Given the description of an element on the screen output the (x, y) to click on. 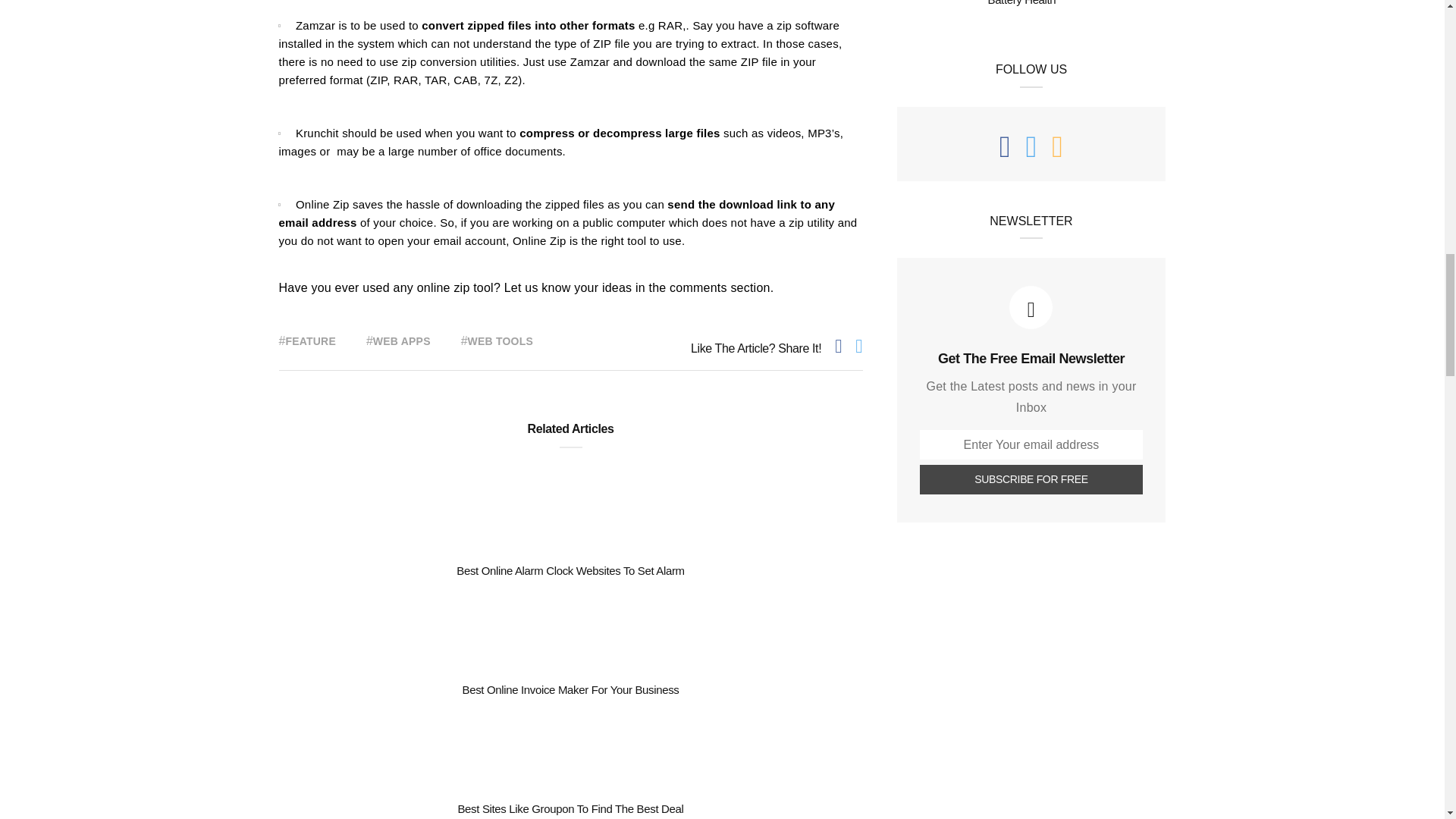
Best Online Alarm Clock Websites To Set Alarm (570, 570)
Subscribe For Free (1030, 479)
WEB APPS (401, 341)
WEB TOOLS (499, 341)
Best Sites Like Groupon To Find The Best Deal (569, 808)
FEATURE (310, 341)
Best Online Invoice Maker For Your Business (571, 689)
